Given the description of an element on the screen output the (x, y) to click on. 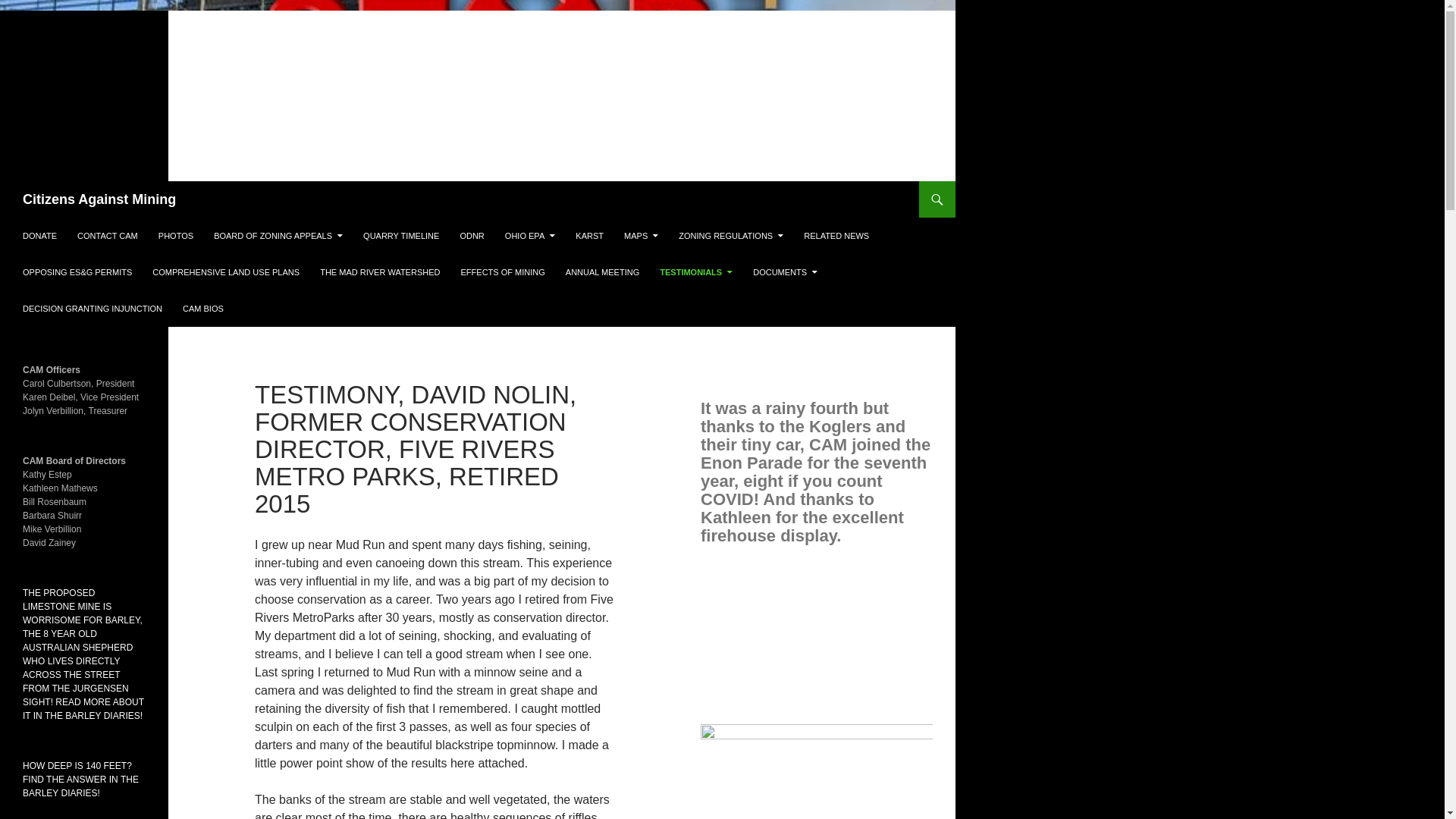
DOCUMENTS (785, 271)
CONTACT CAM (107, 235)
QUARRY TIMELINE (400, 235)
COMPREHENSIVE LAND USE PLANS (225, 271)
EFFECTS OF MINING (502, 271)
KARST (589, 235)
BOARD OF ZONING APPEALS (278, 235)
RELATED NEWS (835, 235)
TESTIMONIALS (695, 271)
Citizens Against Mining (99, 198)
PHOTOS (175, 235)
ANNUAL MEETING (601, 271)
DONATE (39, 235)
